Given the description of an element on the screen output the (x, y) to click on. 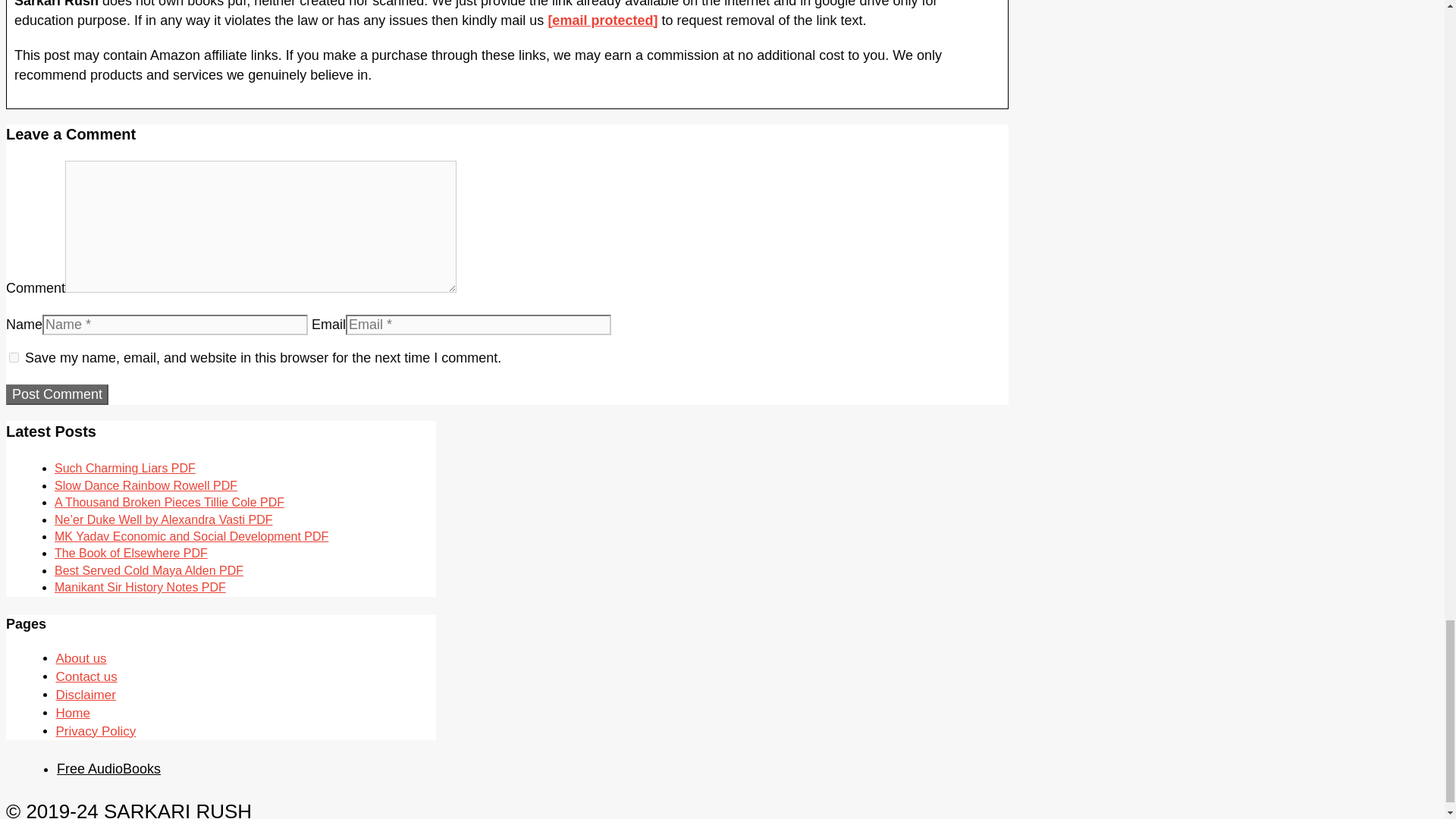
Post Comment (56, 394)
yes (13, 357)
